Given the description of an element on the screen output the (x, y) to click on. 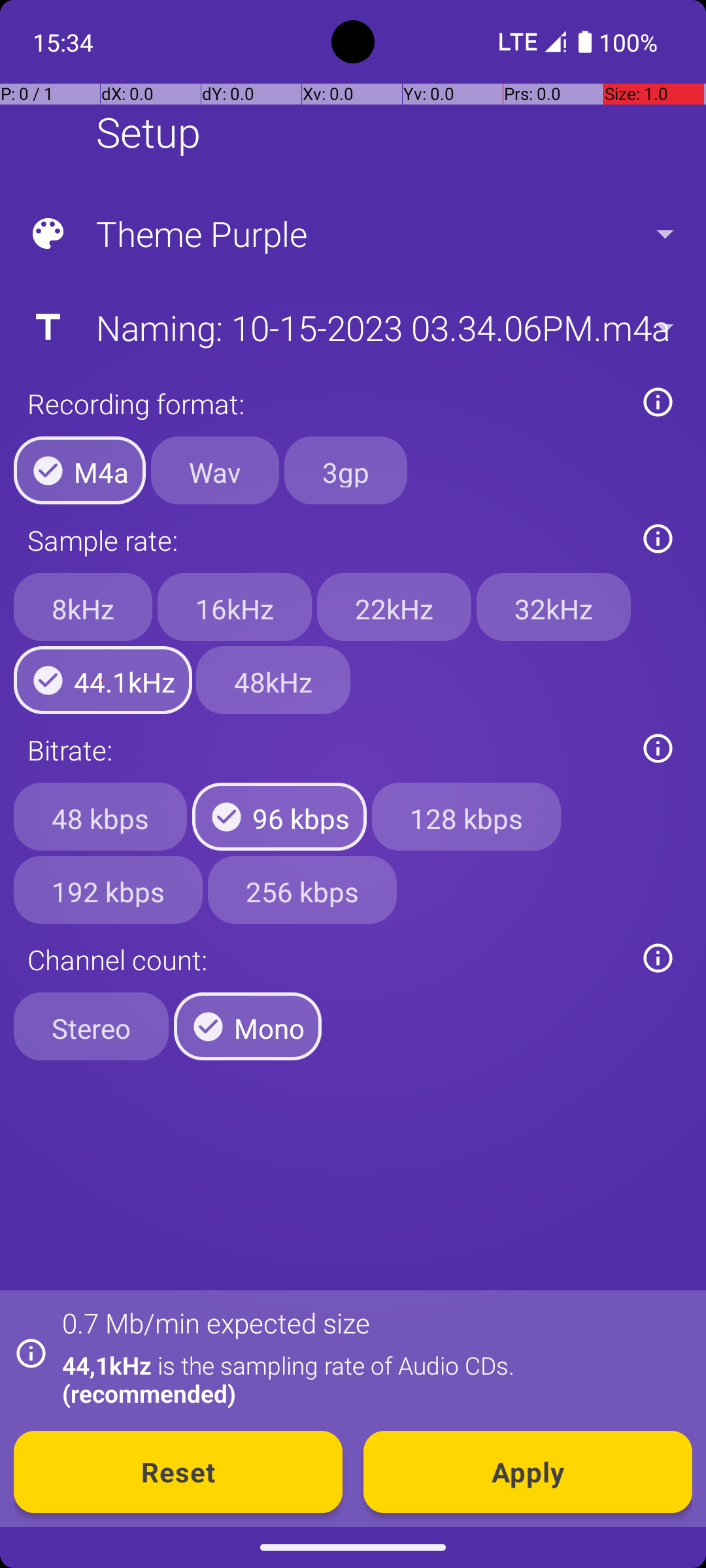
0.7 Mb/min expected size Element type: android.widget.TextView (215, 1322)
44,1kHz is the sampling rate of Audio CDs. (recommended) Element type: android.widget.TextView (370, 1378)
Naming: 10-15-2023 03.34.06PM.m4a Element type: android.widget.TextView (352, 327)
